Given the description of an element on the screen output the (x, y) to click on. 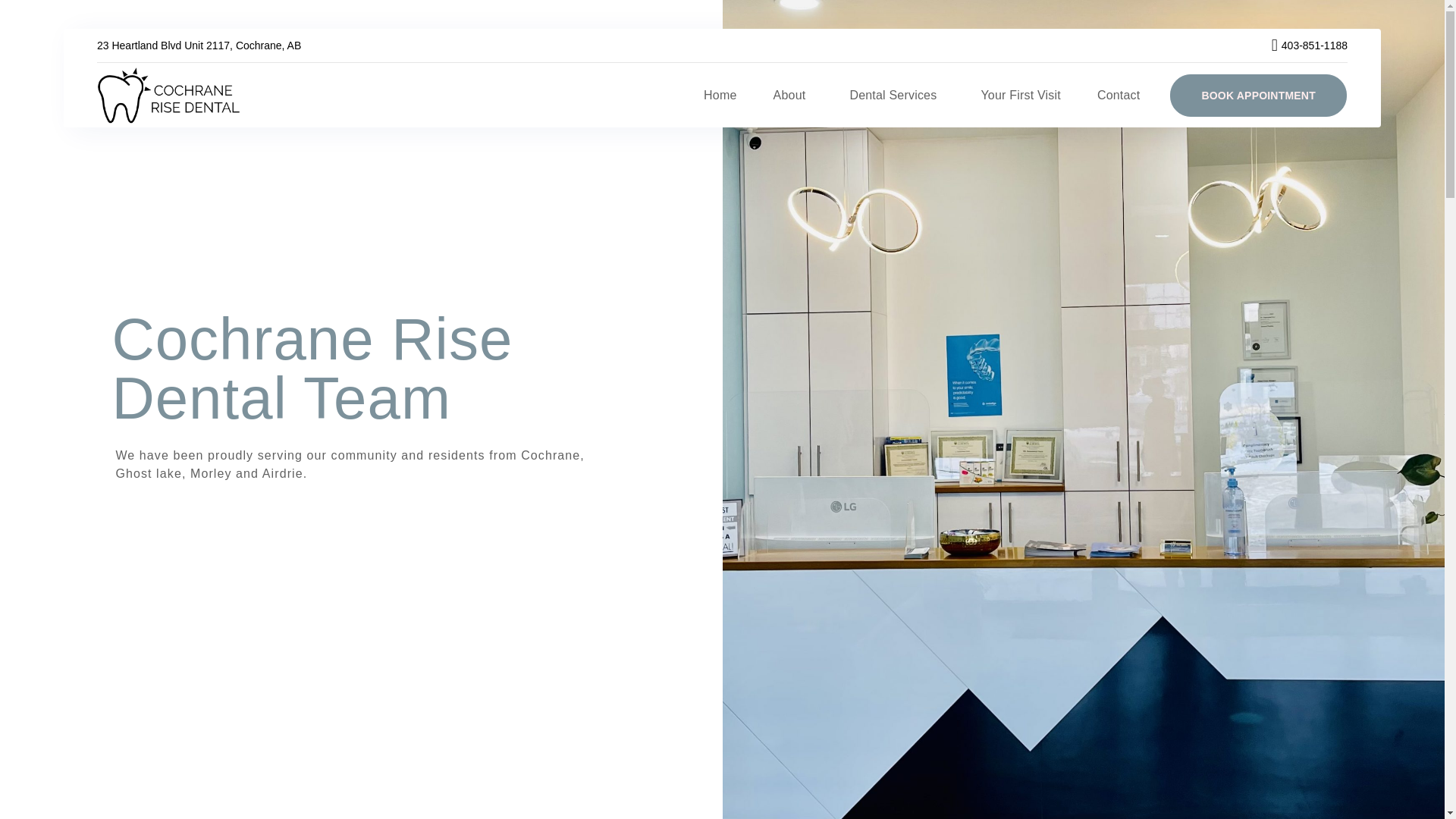
403-851-1188 (1302, 45)
Contact (1118, 94)
Your First Visit (1019, 94)
About (793, 94)
Home (719, 94)
Dental Services (895, 94)
